Given the description of an element on the screen output the (x, y) to click on. 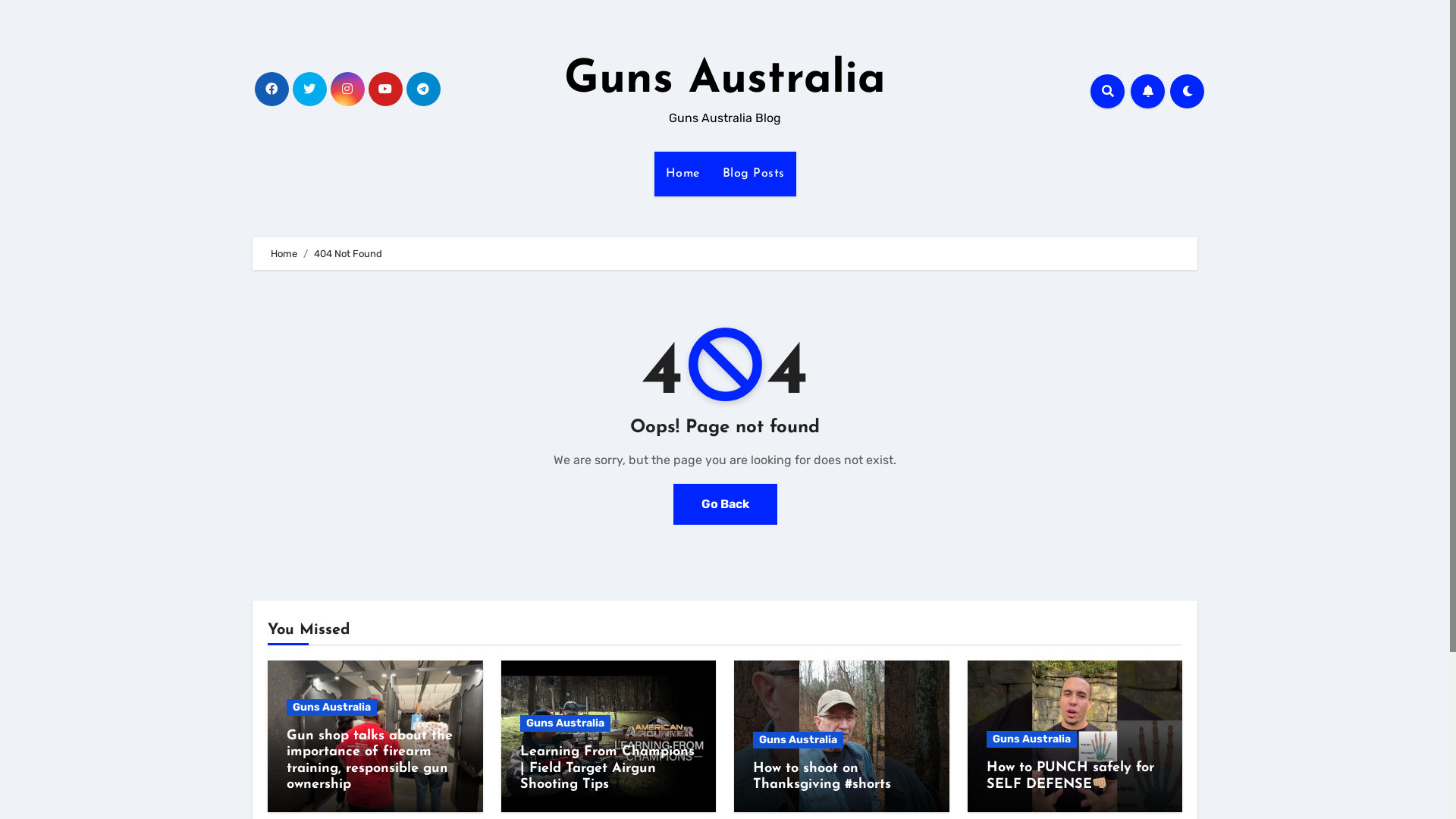
Home Element type: text (681, 173)
How to PUNCH safely for SELF DEFENSE Element type: text (1069, 776)
Go Back Element type: text (725, 503)
How to shoot on Thanksgiving #shorts Element type: text (822, 776)
Home Element type: text (283, 253)
Guns Australia Element type: text (331, 707)
Guns Australia Element type: text (724, 80)
Guns Australia Element type: text (1030, 739)
Guns Australia Element type: text (565, 723)
Blog Posts Element type: text (753, 173)
Learning From Champions | Field Target Airgun Shooting Tips Element type: text (607, 767)
Guns Australia Element type: text (798, 739)
